Given the description of an element on the screen output the (x, y) to click on. 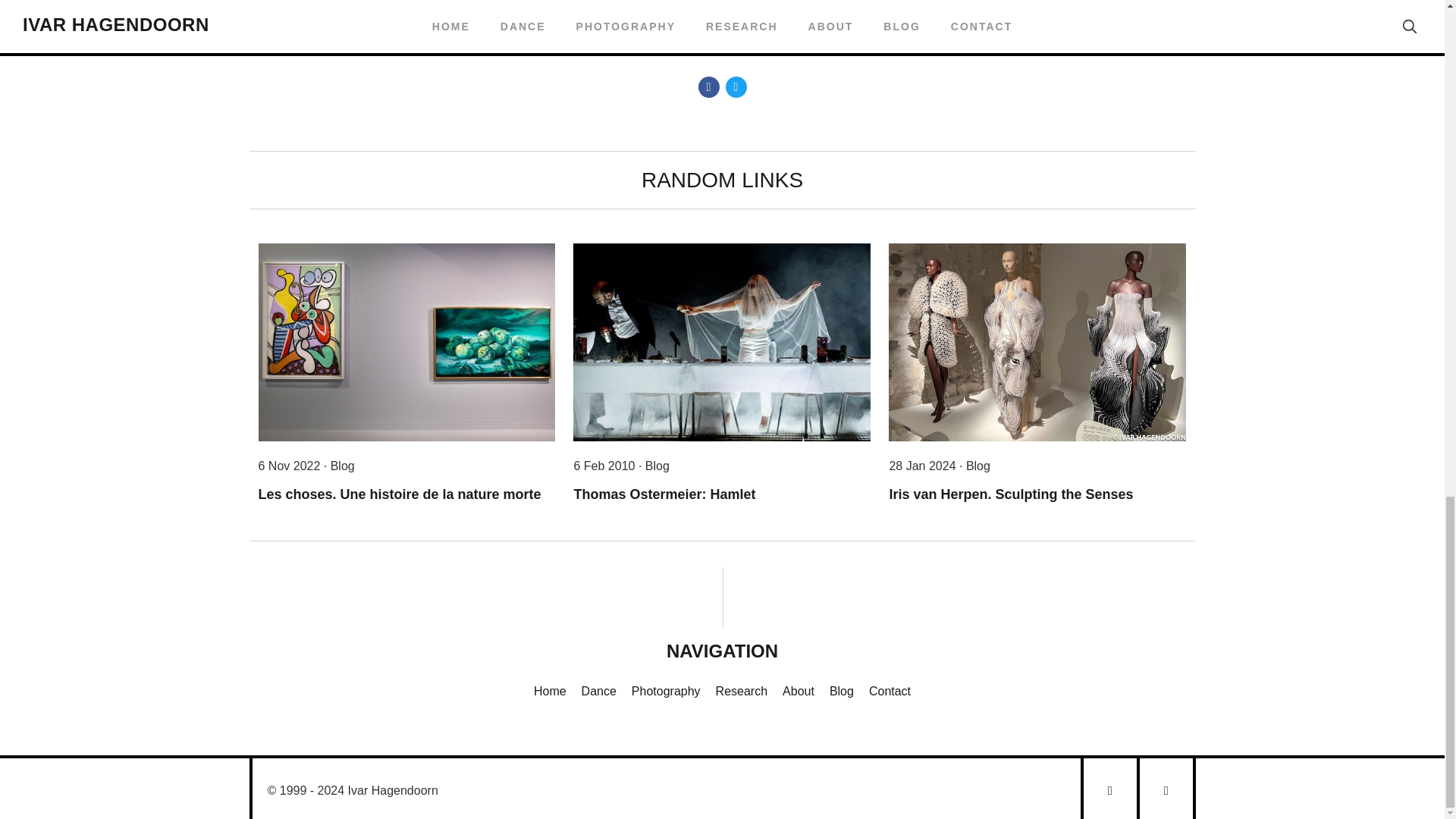
Home (550, 690)
Les choses. Une histoire de la nature morte (398, 494)
Blog (841, 690)
Photography (665, 690)
Dance (597, 690)
Research (741, 690)
Belly (502, 4)
Contact (890, 690)
Iris van Herpen. Sculpting the Senses (1010, 494)
Thomas Ostermeier: Hamlet (664, 494)
About (798, 690)
